Given the description of an element on the screen output the (x, y) to click on. 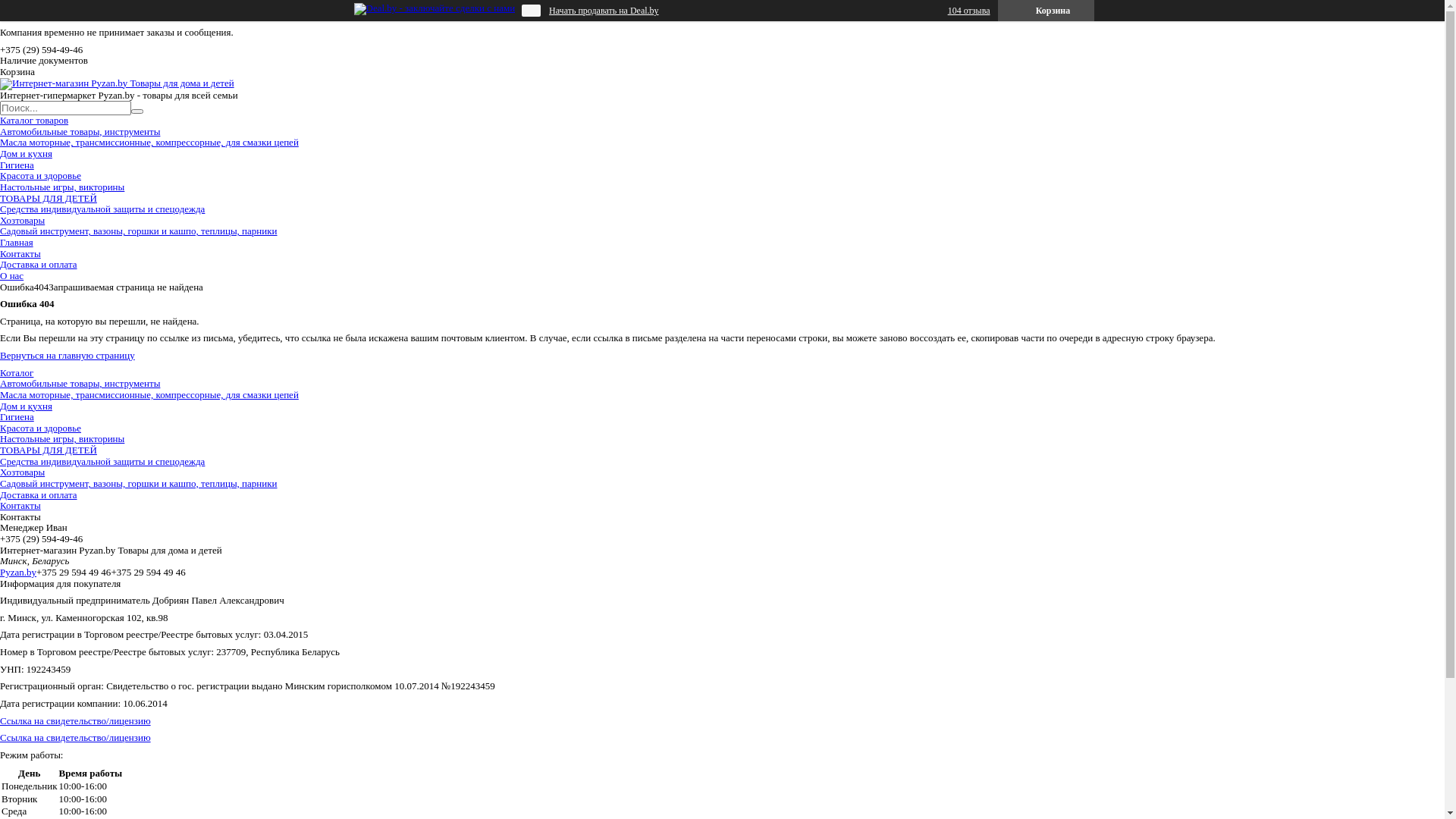
Pyzan.by Element type: text (18, 571)
